Given the description of an element on the screen output the (x, y) to click on. 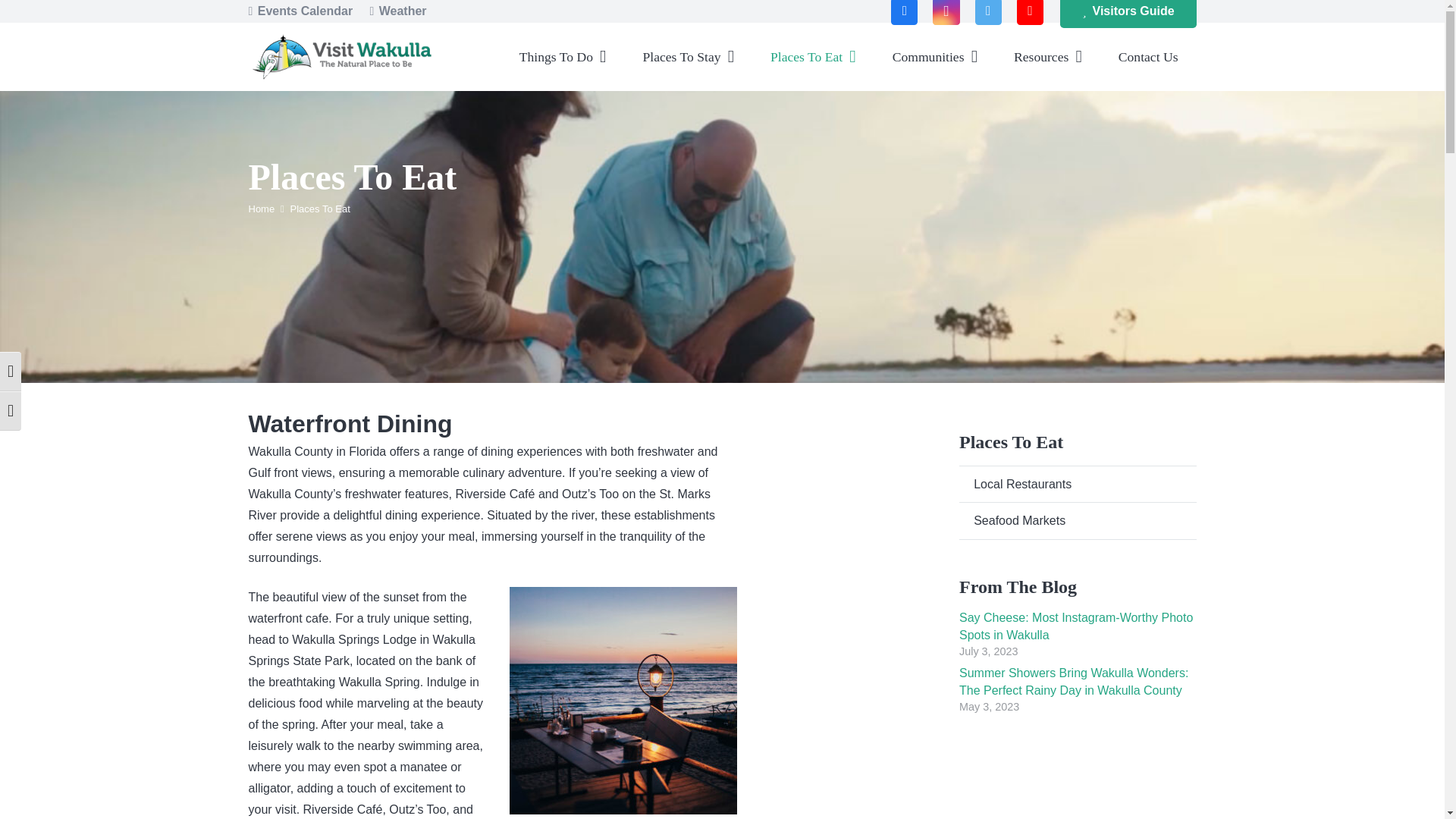
Places To Eat (813, 56)
Places To Stay (688, 56)
Things To Do (562, 56)
Events Calendar (300, 10)
Weather (397, 11)
Visitors Guide (1127, 14)
Weather (397, 10)
